Given the description of an element on the screen output the (x, y) to click on. 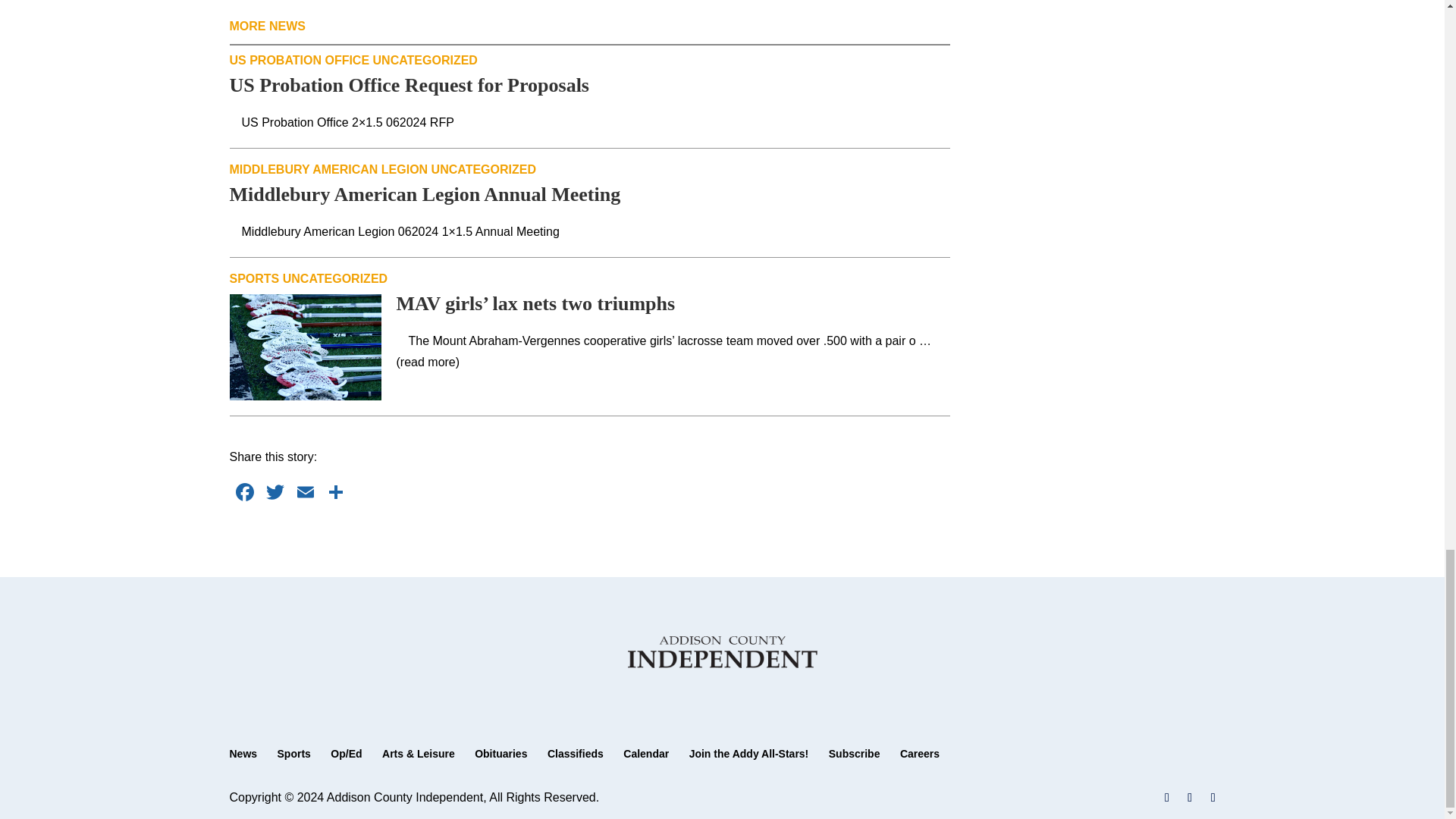
Twitter (274, 492)
Facebook (243, 492)
Email (304, 492)
